Given the description of an element on the screen output the (x, y) to click on. 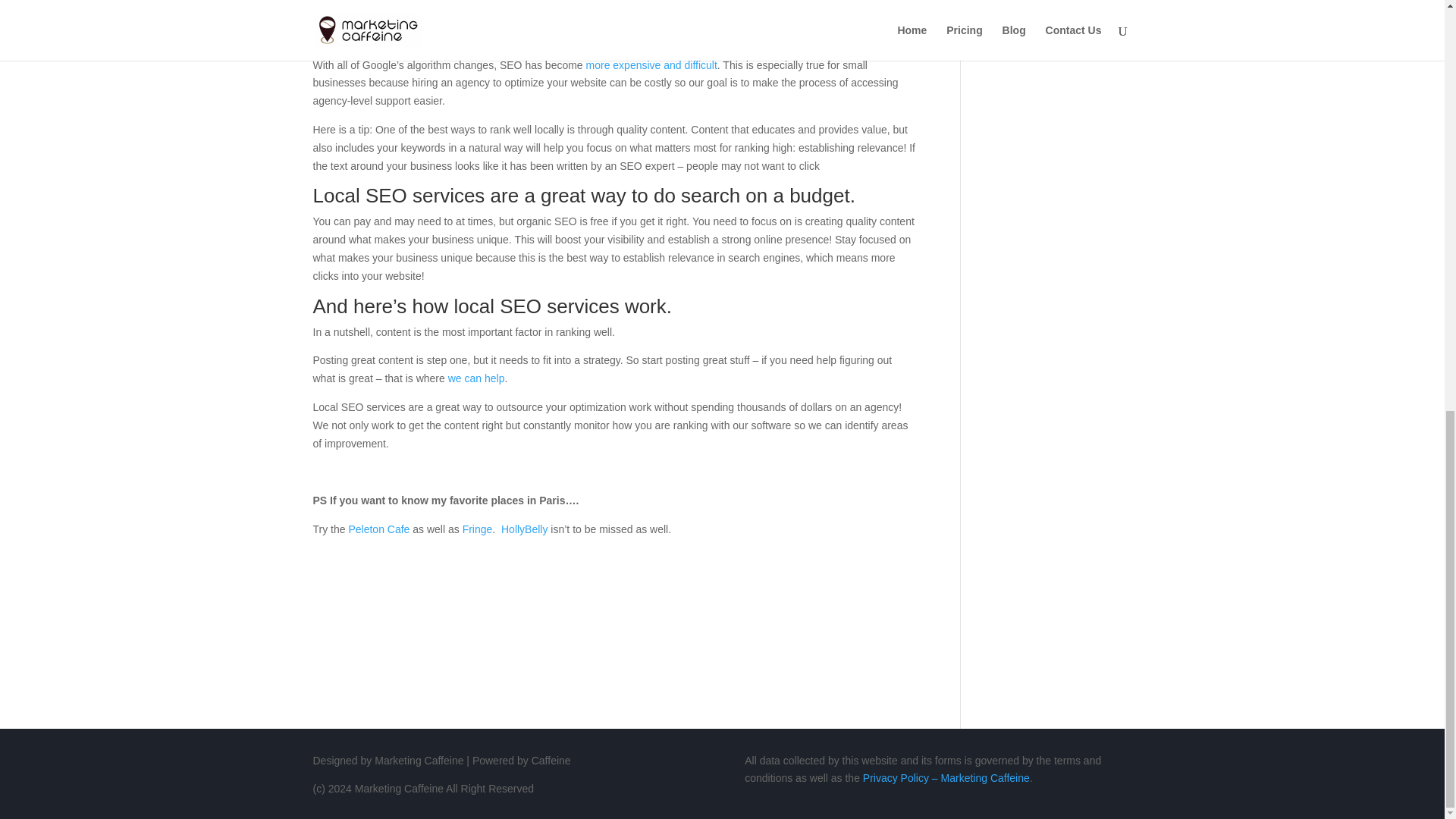
Peleton Cafe (378, 529)
HollyBelly (523, 529)
more expensive and difficult (651, 64)
Fringe (478, 529)
we can help (476, 378)
